Given the description of an element on the screen output the (x, y) to click on. 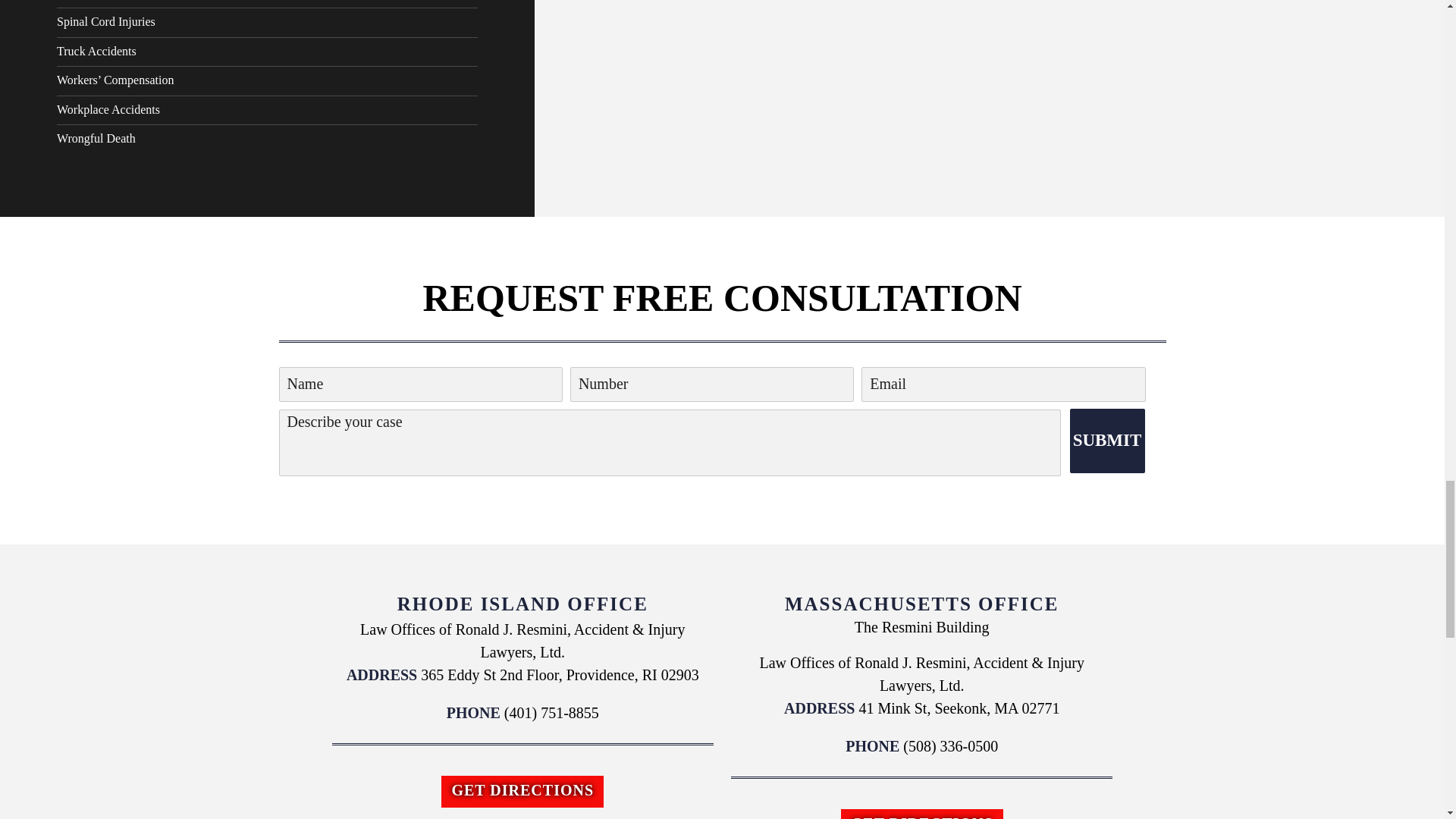
Submit (1106, 440)
